Given the description of an element on the screen output the (x, y) to click on. 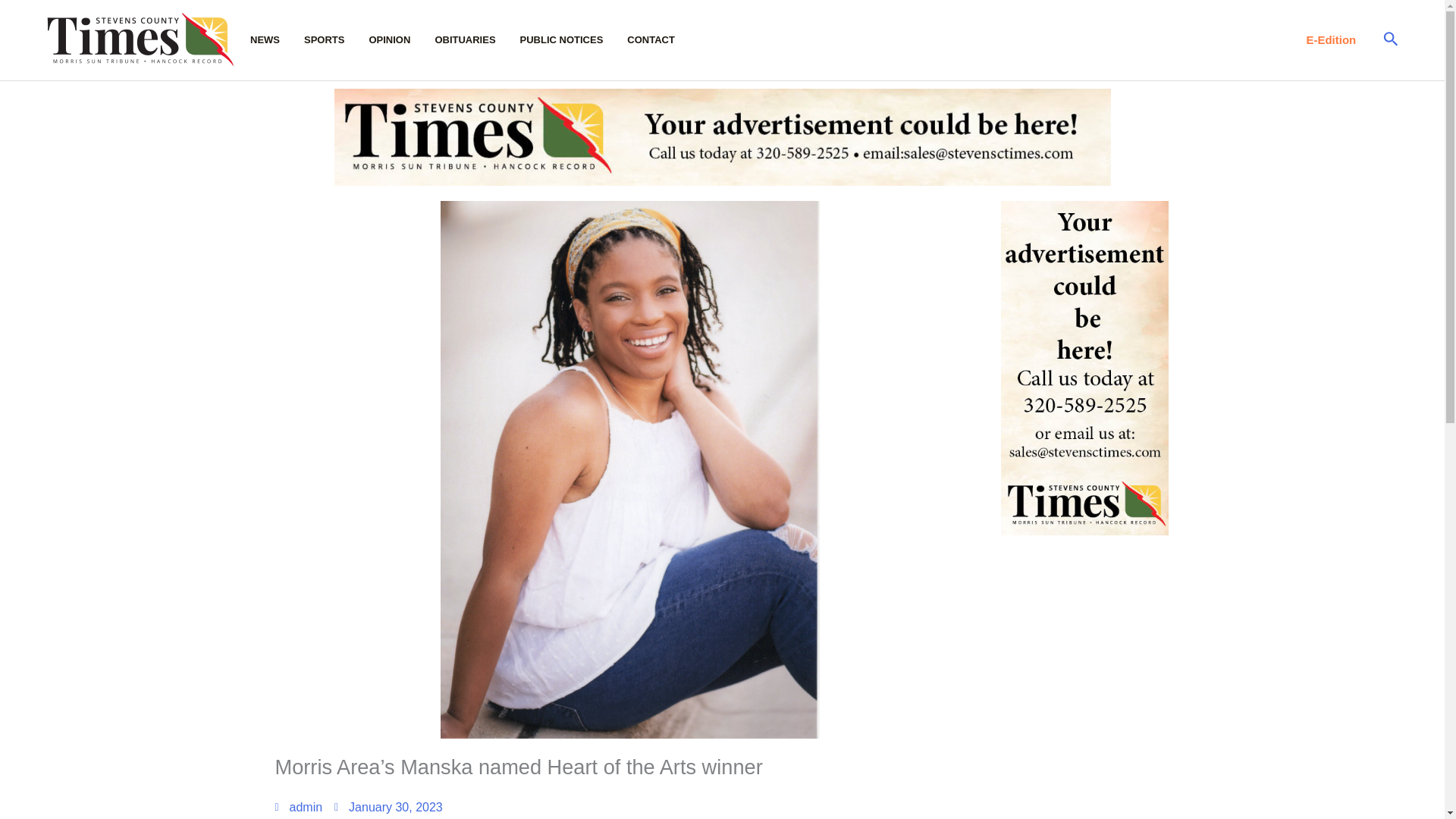
January 30, 2023 (388, 807)
OBITUARIES (476, 39)
admin (298, 807)
PUBLIC NOTICES (573, 39)
CONTACT (662, 39)
E-Edition (1330, 39)
